Given the description of an element on the screen output the (x, y) to click on. 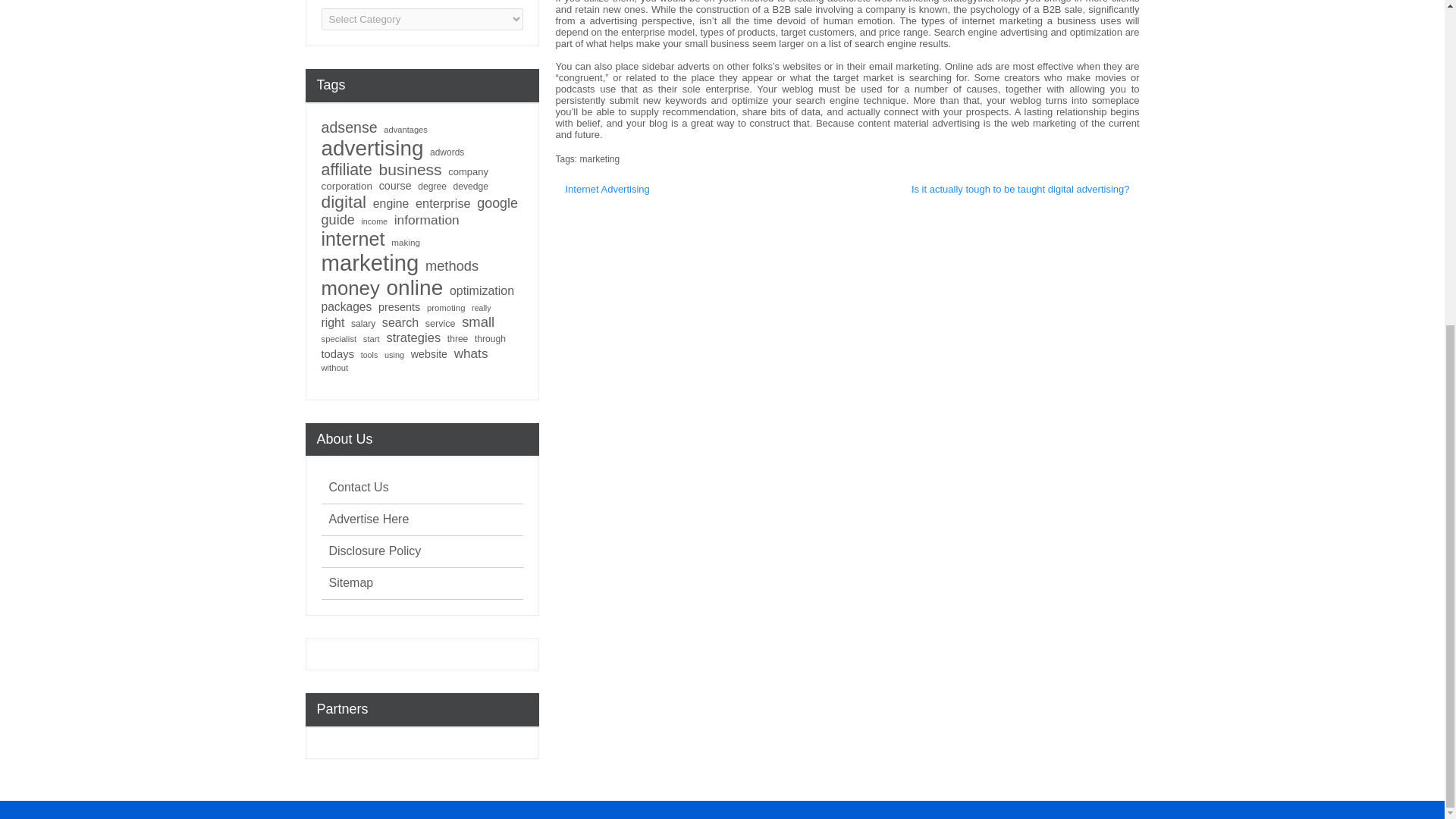
marketing (599, 158)
Is it actually tough to be taught digital advertising? (1020, 189)
Internet Advertising (606, 189)
